Given the description of an element on the screen output the (x, y) to click on. 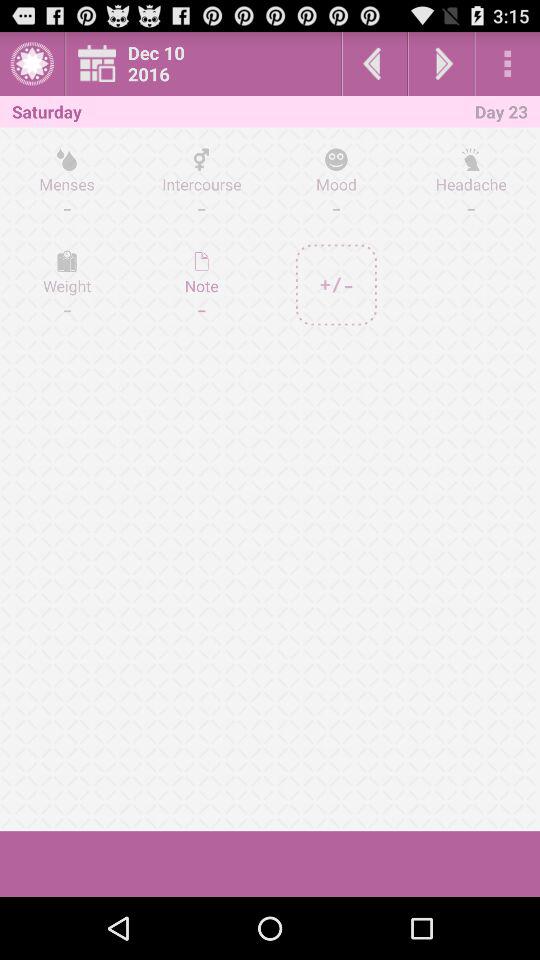
flip until the headache
_ icon (470, 183)
